Given the description of an element on the screen output the (x, y) to click on. 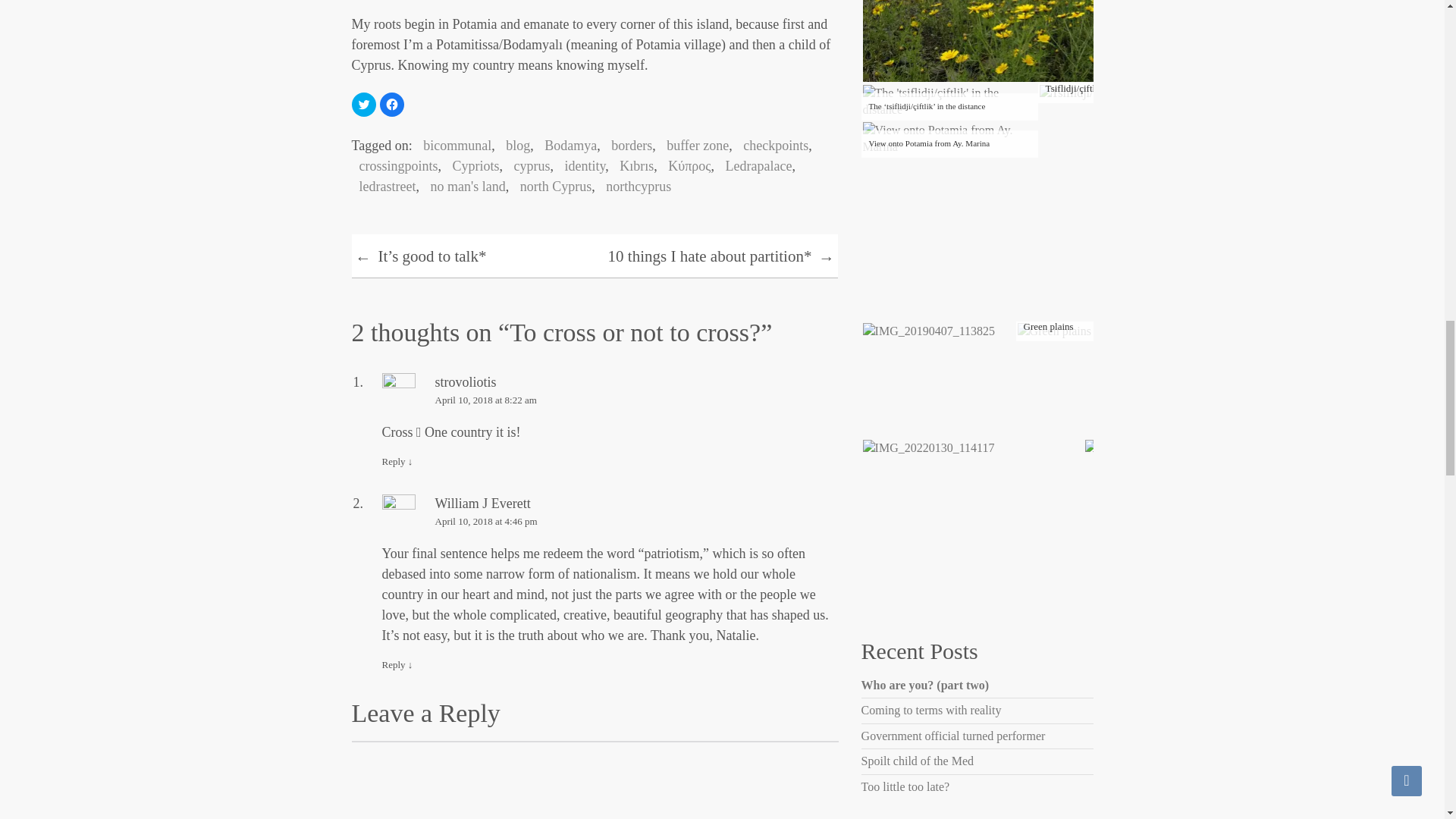
Comment Form (595, 780)
borders (628, 145)
no man's land (463, 186)
April 10, 2018 at 8:22 am (609, 400)
buffer zone (694, 145)
identity (581, 165)
blog (513, 145)
crossingpoints (395, 165)
strovoliotis (465, 381)
April 10, 2018 at 4:46 pm (609, 521)
